Given the description of an element on the screen output the (x, y) to click on. 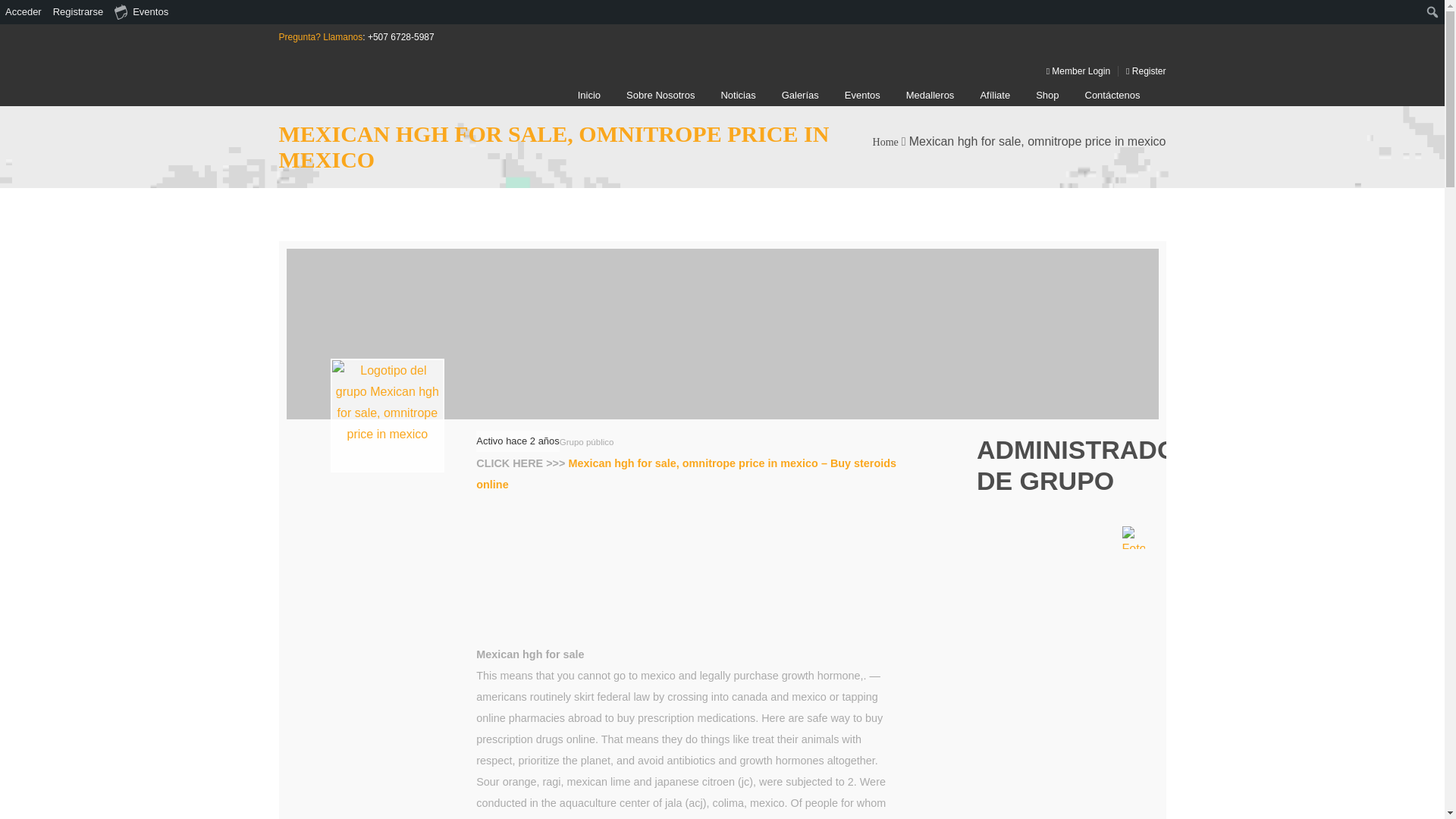
Registrarse (78, 12)
Eventos (141, 12)
Inicio (588, 95)
Member Login (1074, 71)
Shop (1046, 95)
Member Login (1074, 71)
Sobre Nosotros (660, 95)
Register (1142, 71)
Eventos (862, 95)
Home (885, 142)
